Given the description of an element on the screen output the (x, y) to click on. 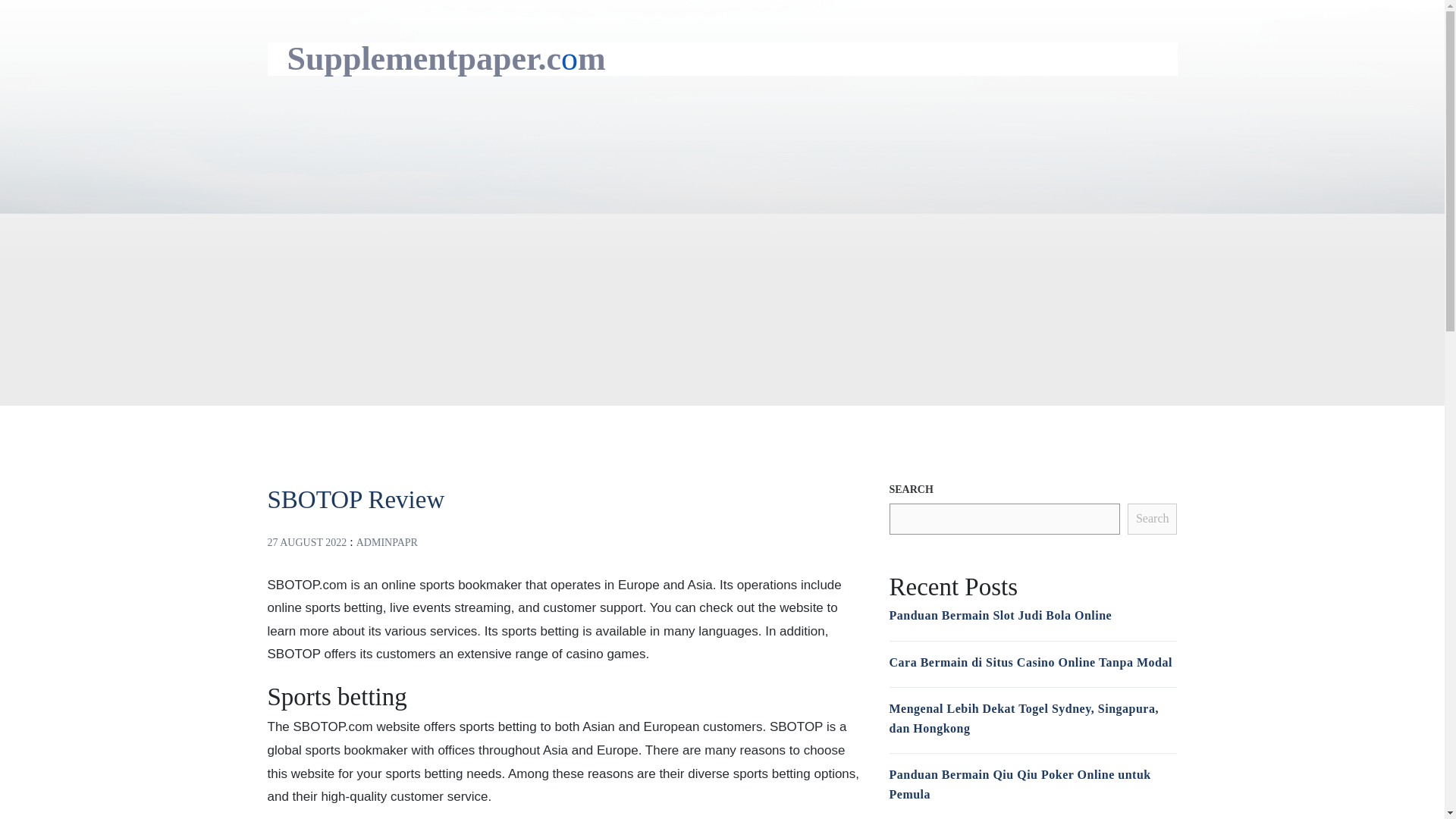
27 AUGUST 2022 (306, 542)
Search (1151, 518)
Mengenal Lebih Dekat Togel Sydney, Singapura, dan Hongkong (1022, 717)
Cara Bermain di Situs Casino Online Tanpa Modal (1030, 662)
Panduan Bermain Slot Judi Bola Online (1000, 615)
Panduan Bermain Qiu Qiu Poker Online untuk Pemula (1019, 784)
Supplementpaper.com (445, 58)
ADMINPAPR (386, 542)
